Given the description of an element on the screen output the (x, y) to click on. 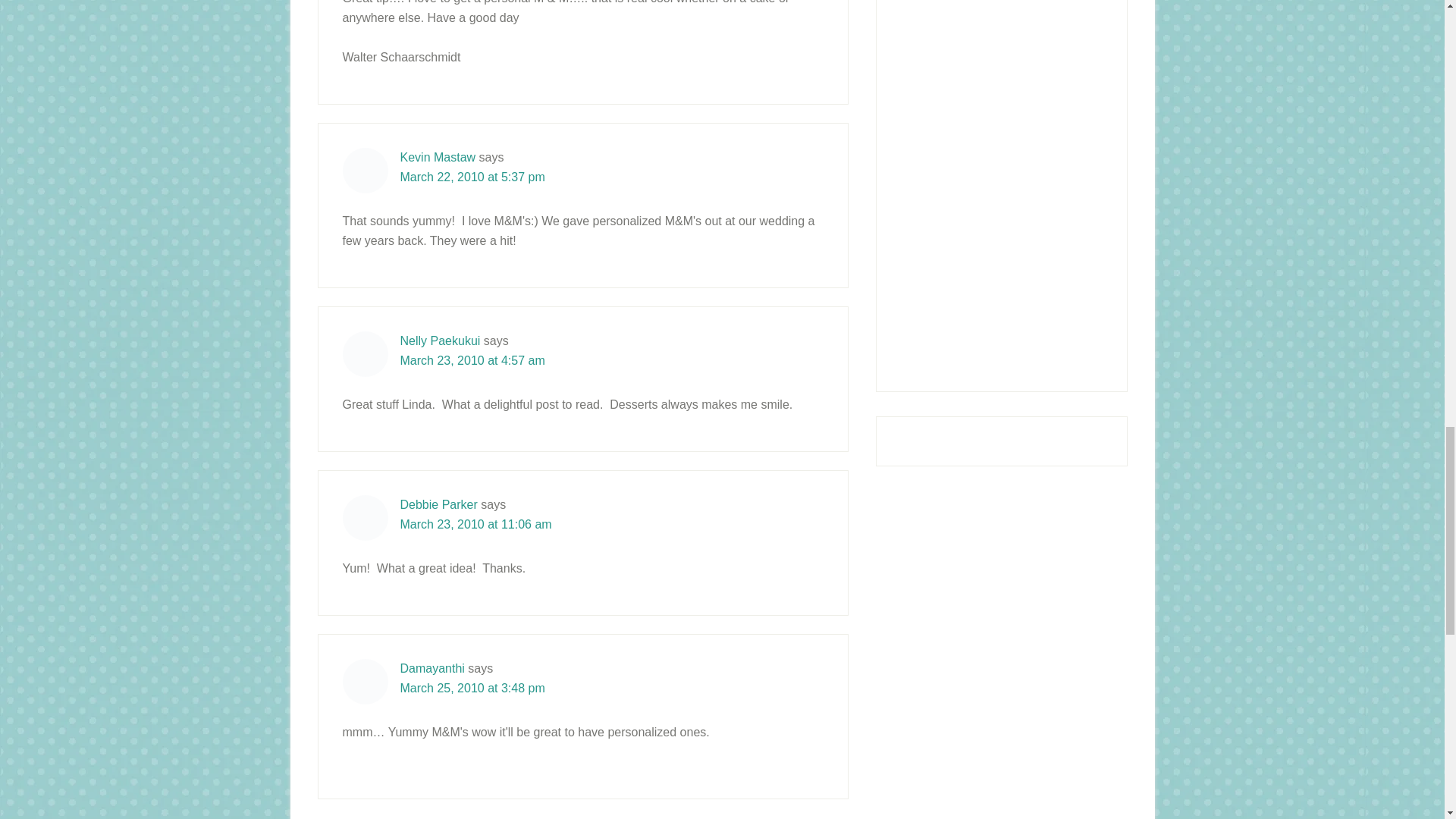
Advertisement (1000, 180)
March 23, 2010 at 4:57 am (472, 359)
Nelly Paekukui (440, 340)
March 23, 2010 at 11:06 am (475, 523)
March 22, 2010 at 5:37 pm (472, 176)
Debbie Parker (438, 504)
Kevin Mastaw (438, 156)
Damayanthi (432, 667)
March 25, 2010 at 3:48 pm (472, 687)
